Given the description of an element on the screen output the (x, y) to click on. 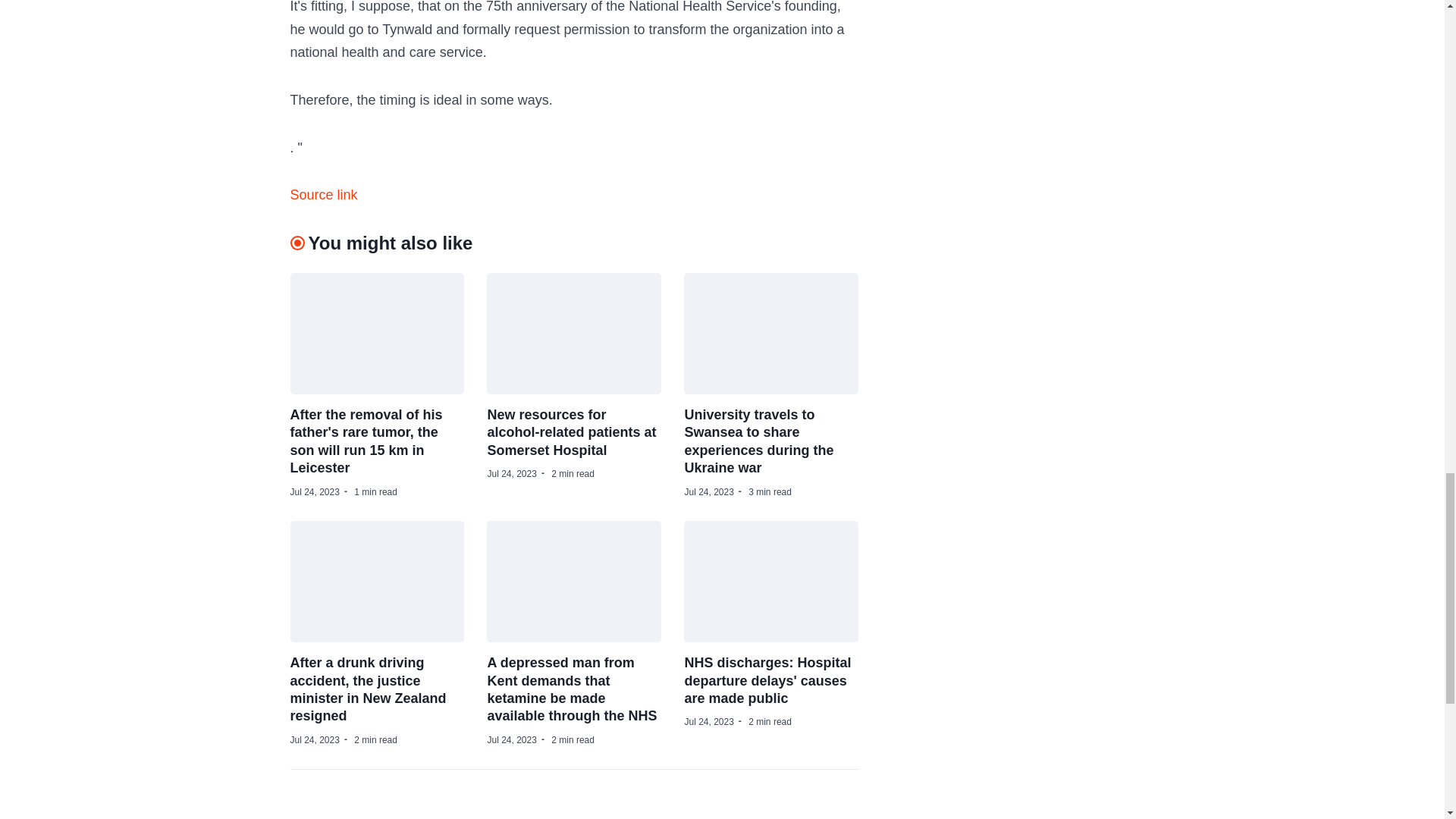
Source link (322, 195)
